Given the description of an element on the screen output the (x, y) to click on. 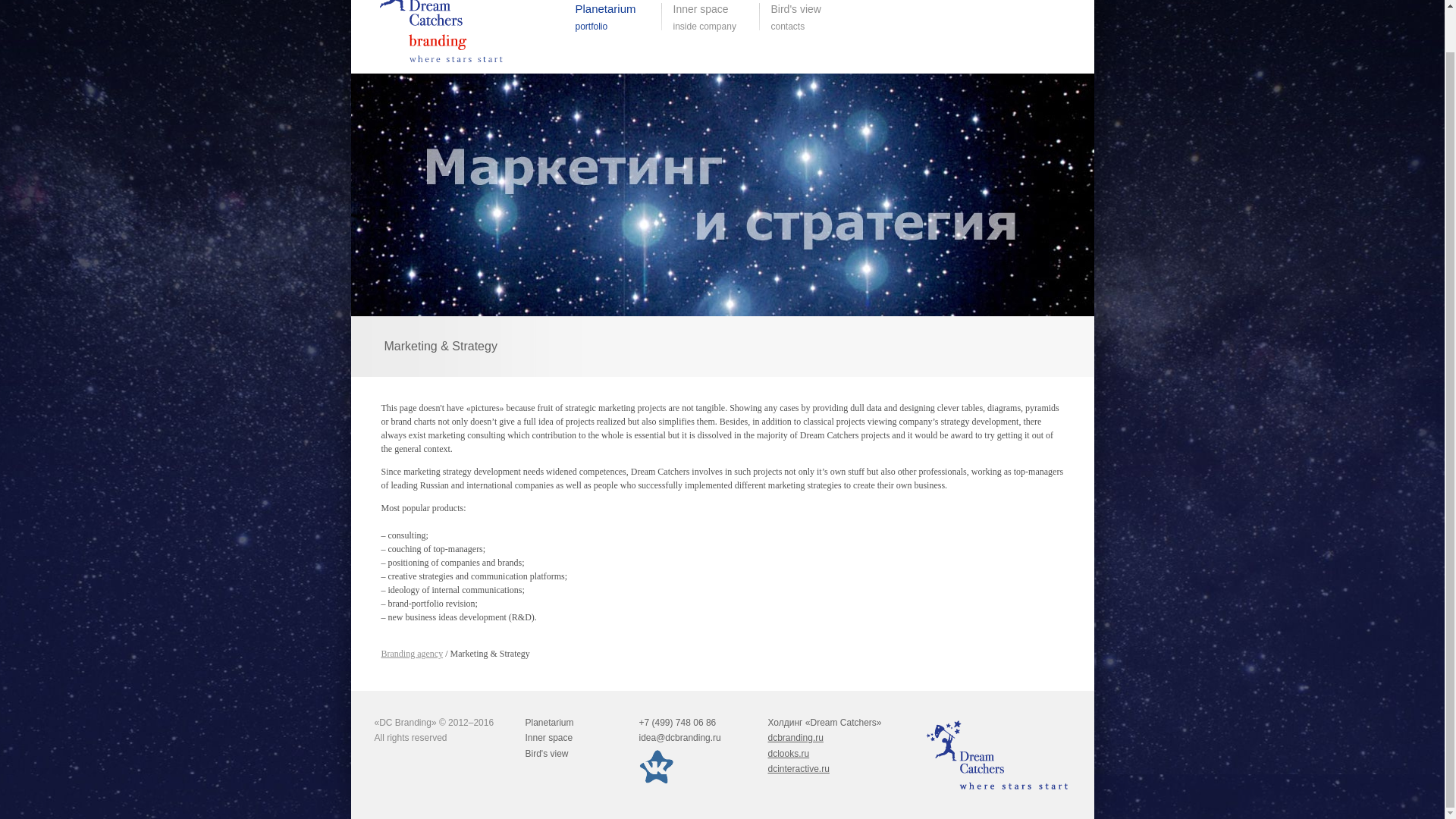
dcbranding.ru (810, 17)
dclooks.ru (794, 737)
Planetarium (788, 753)
Branding agency (548, 722)
Bird's view (411, 653)
dcinteractive.ru (545, 753)
Inner space (797, 768)
